Given the description of an element on the screen output the (x, y) to click on. 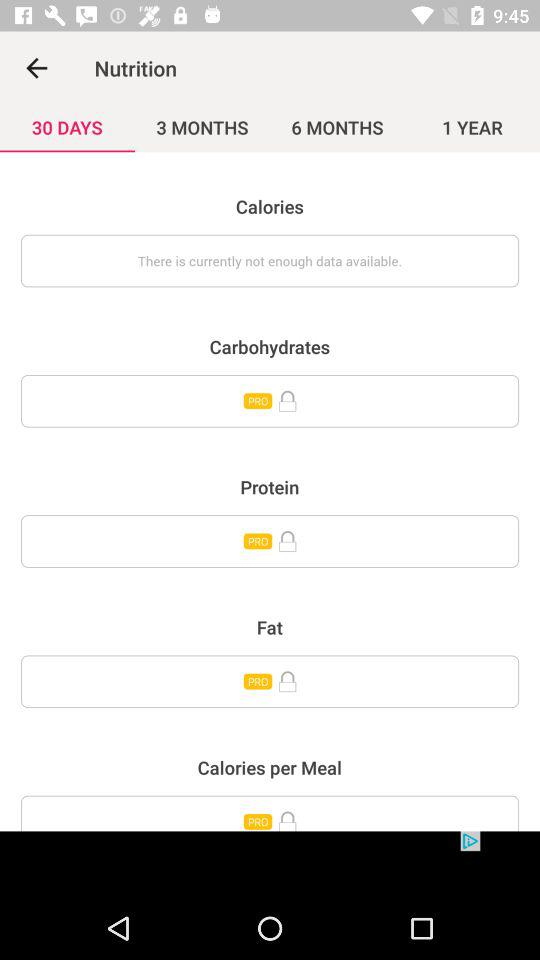
turn off icon above the 30 days (36, 68)
